Given the description of an element on the screen output the (x, y) to click on. 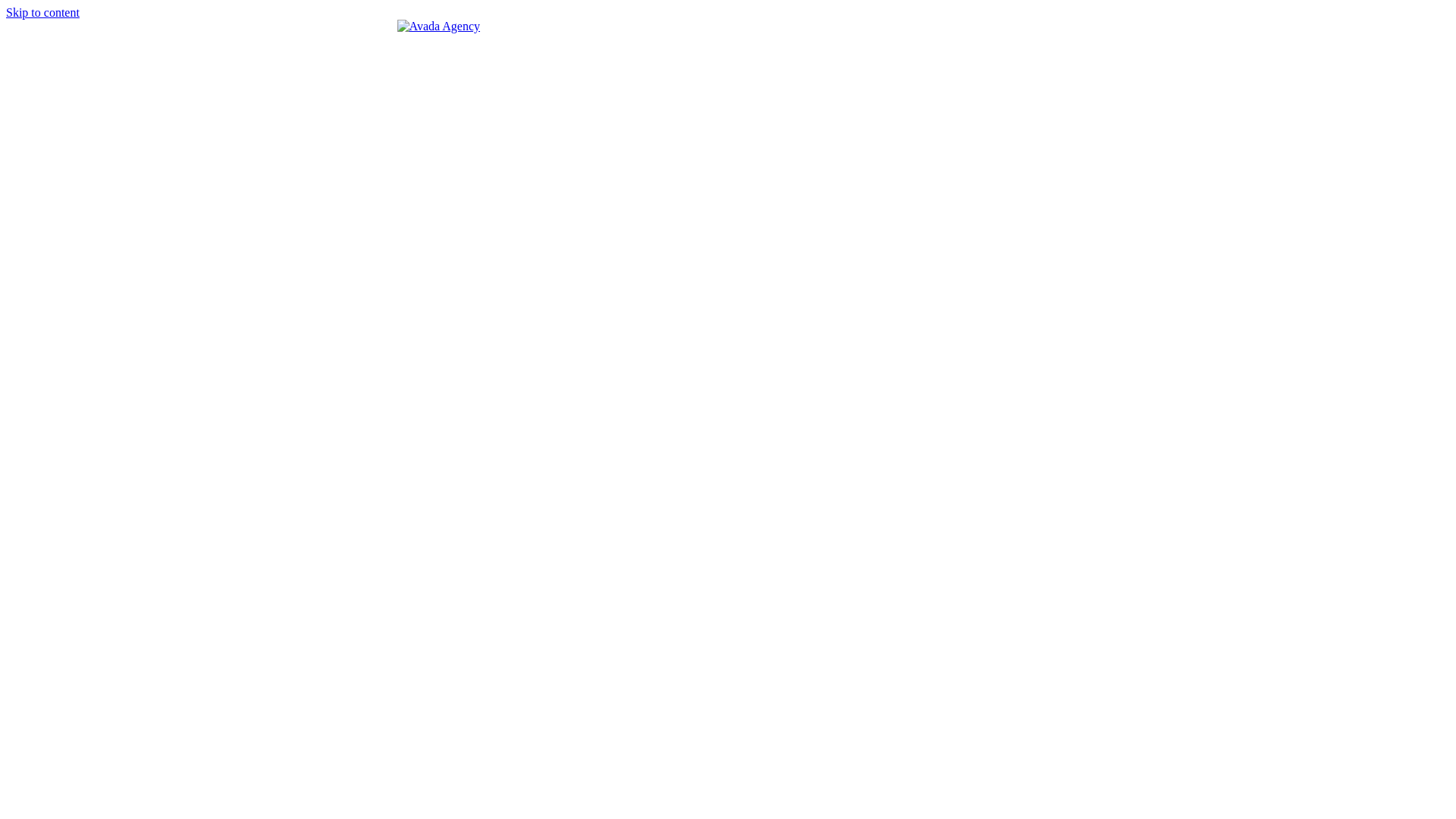
Skip to content Element type: text (42, 12)
